Given the description of an element on the screen output the (x, y) to click on. 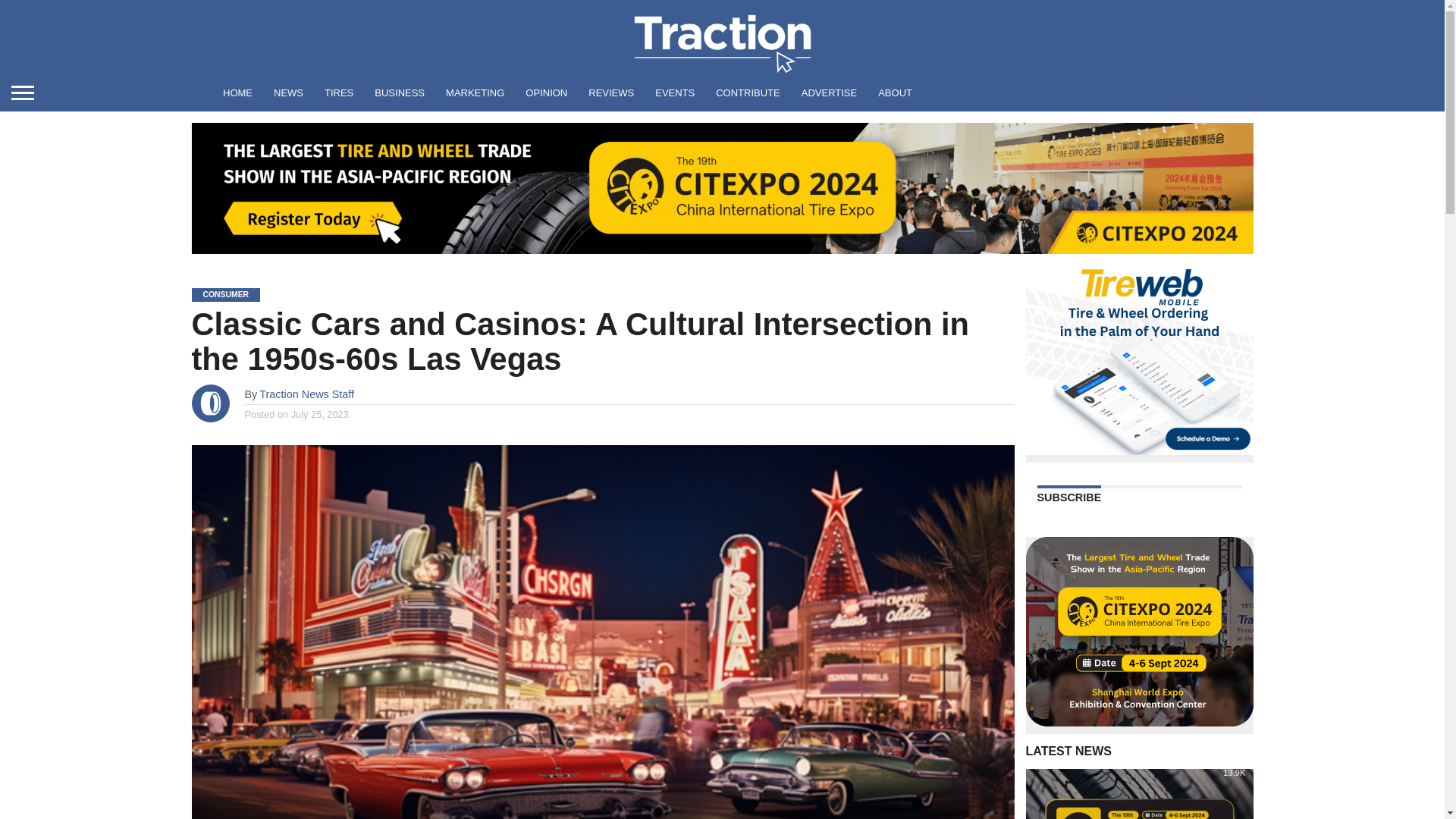
NEWS (288, 92)
Posts by Traction News Staff (306, 394)
MARKETING (475, 92)
BUSINESS (399, 92)
HOME (237, 92)
TIRES (339, 92)
